Given the description of an element on the screen output the (x, y) to click on. 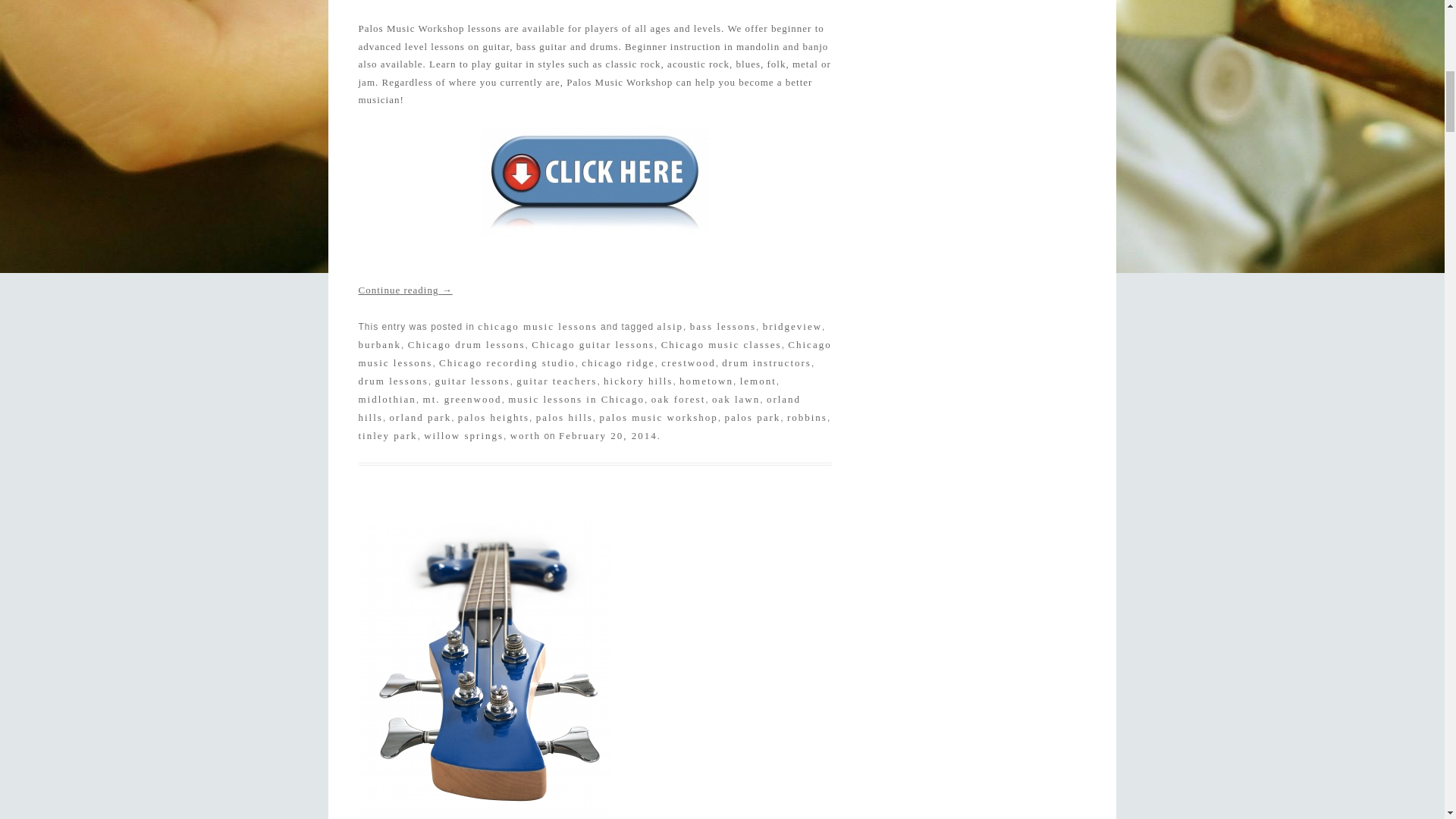
chicago ridge (616, 362)
10:33 am (608, 434)
hometown (706, 380)
midlothian (386, 398)
drum lessons (393, 380)
Chicago drum lessons (466, 344)
orland hills (579, 408)
Chicago music lessons (594, 353)
Chicago guitar lessons (592, 344)
lemont (757, 380)
